Given the description of an element on the screen output the (x, y) to click on. 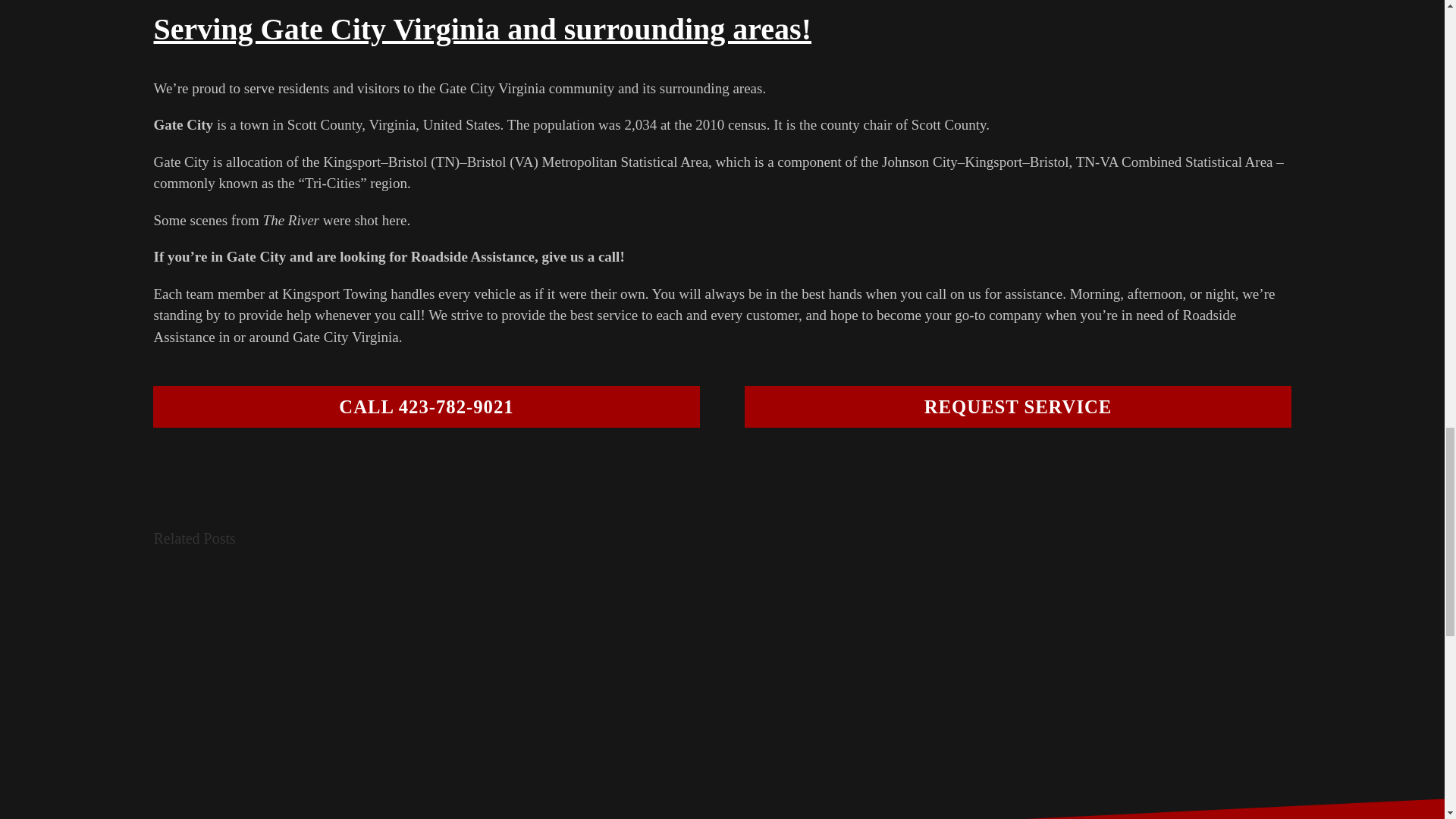
REQUEST SERVICE (1017, 406)
CALL 423-782-9021 (425, 406)
